Given the description of an element on the screen output the (x, y) to click on. 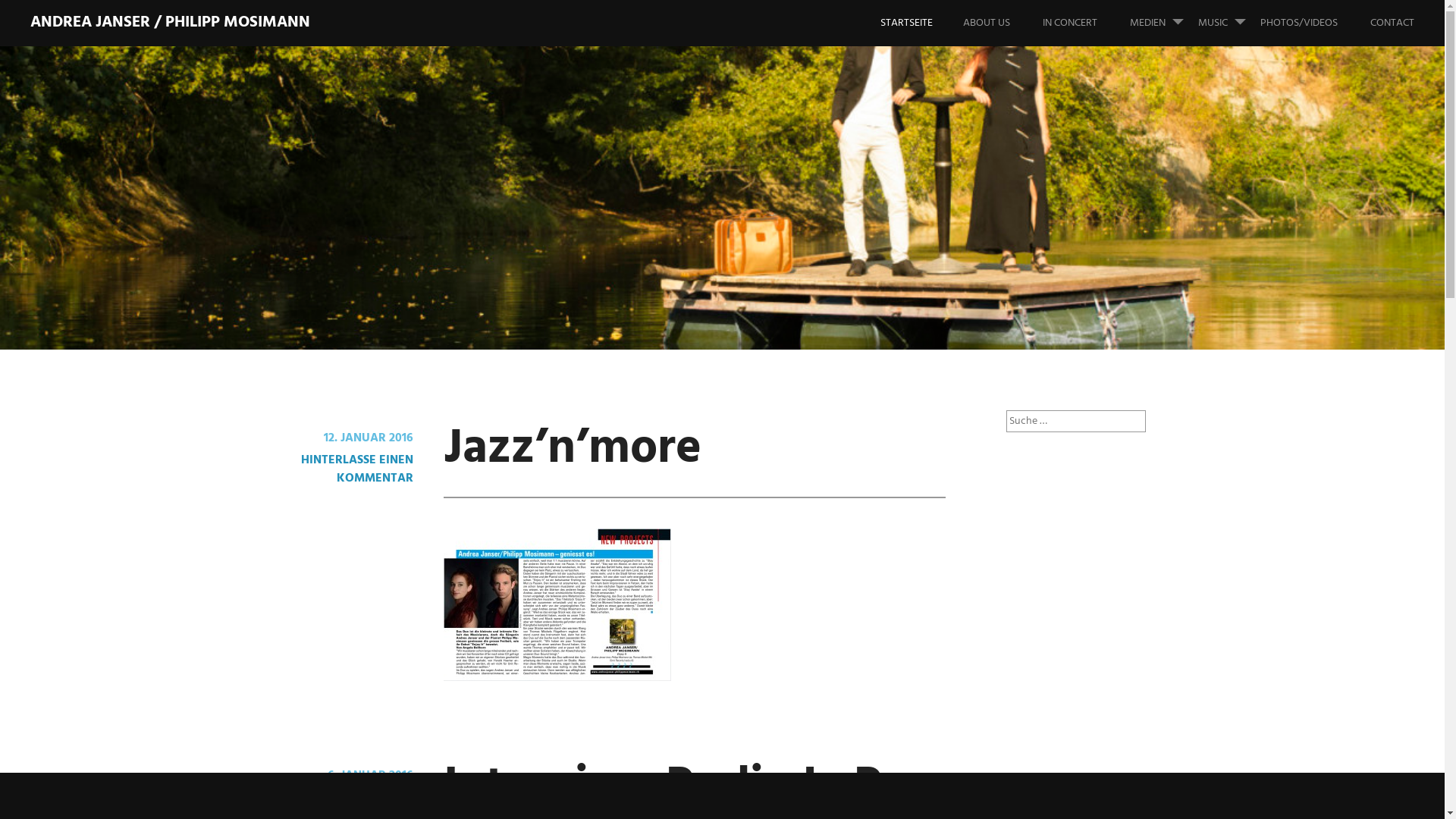
12. JANUAR 2016 Element type: text (368, 438)
HINTERLASSE EINEN KOMMENTAR Element type: text (357, 469)
STARTSEITE Element type: text (921, 23)
MUSIC Element type: text (1228, 23)
ANDREA JANSER / PHILIPP MOSIMANN Element type: text (170, 22)
PHOTOS/VIDEOS Element type: text (1314, 23)
ABOUT US Element type: text (1001, 23)
Suche Element type: text (23, 13)
6. JANUAR 2016 Element type: text (370, 775)
IN CONCERT Element type: text (1084, 23)
CONTACT Element type: text (1407, 23)
MEDIEN Element type: text (1162, 23)
